Given the description of an element on the screen output the (x, y) to click on. 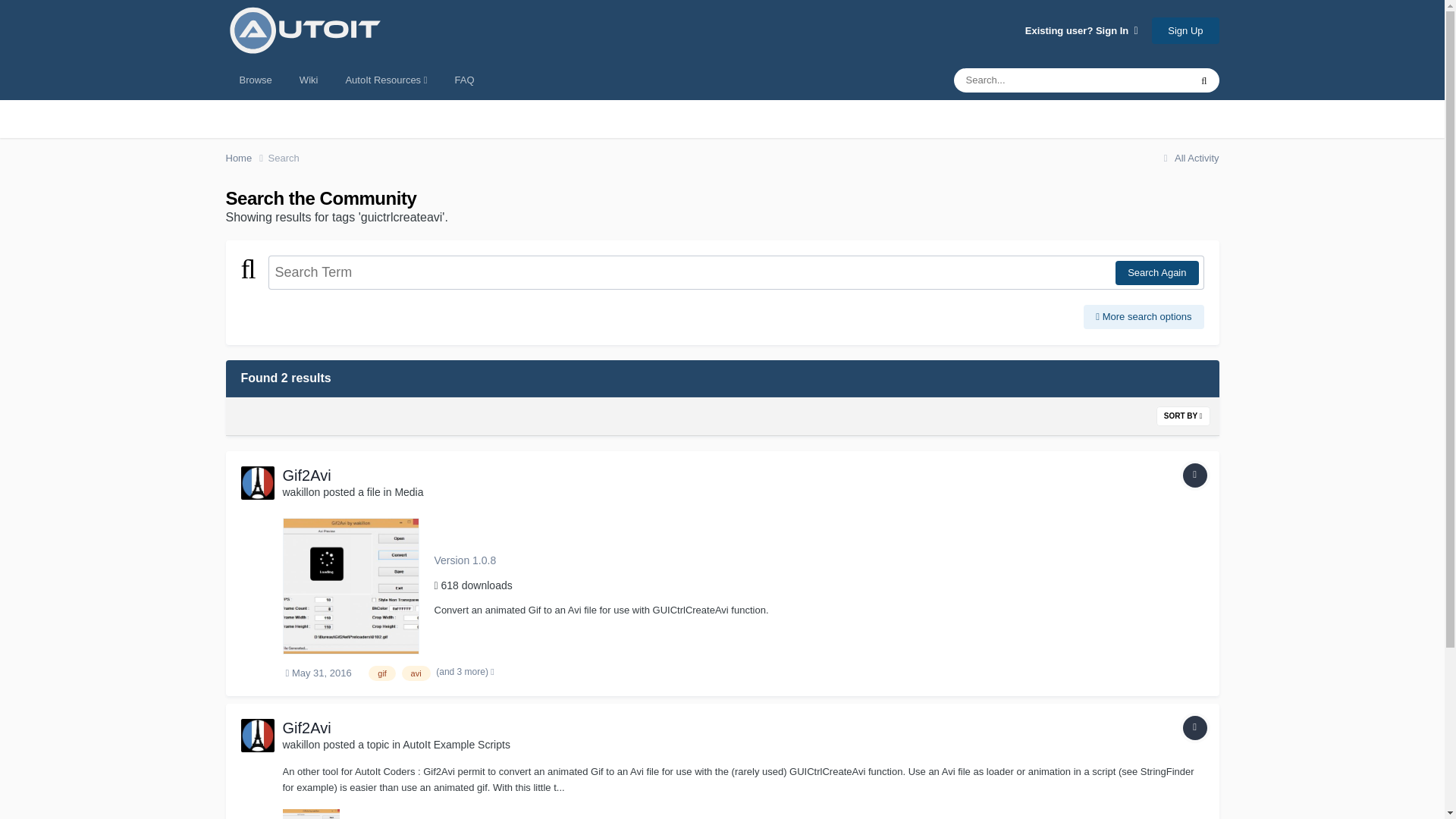
Home (246, 158)
AutoIt Resources (386, 79)
More search options (1143, 316)
Go to wakillon's profile (258, 482)
Search (283, 157)
Existing user? Sign In   (1081, 30)
All Activity (1188, 157)
FAQ (464, 79)
Go to wakillon's profile (301, 491)
Find other content tagged with 'avi' (415, 672)
